Given the description of an element on the screen output the (x, y) to click on. 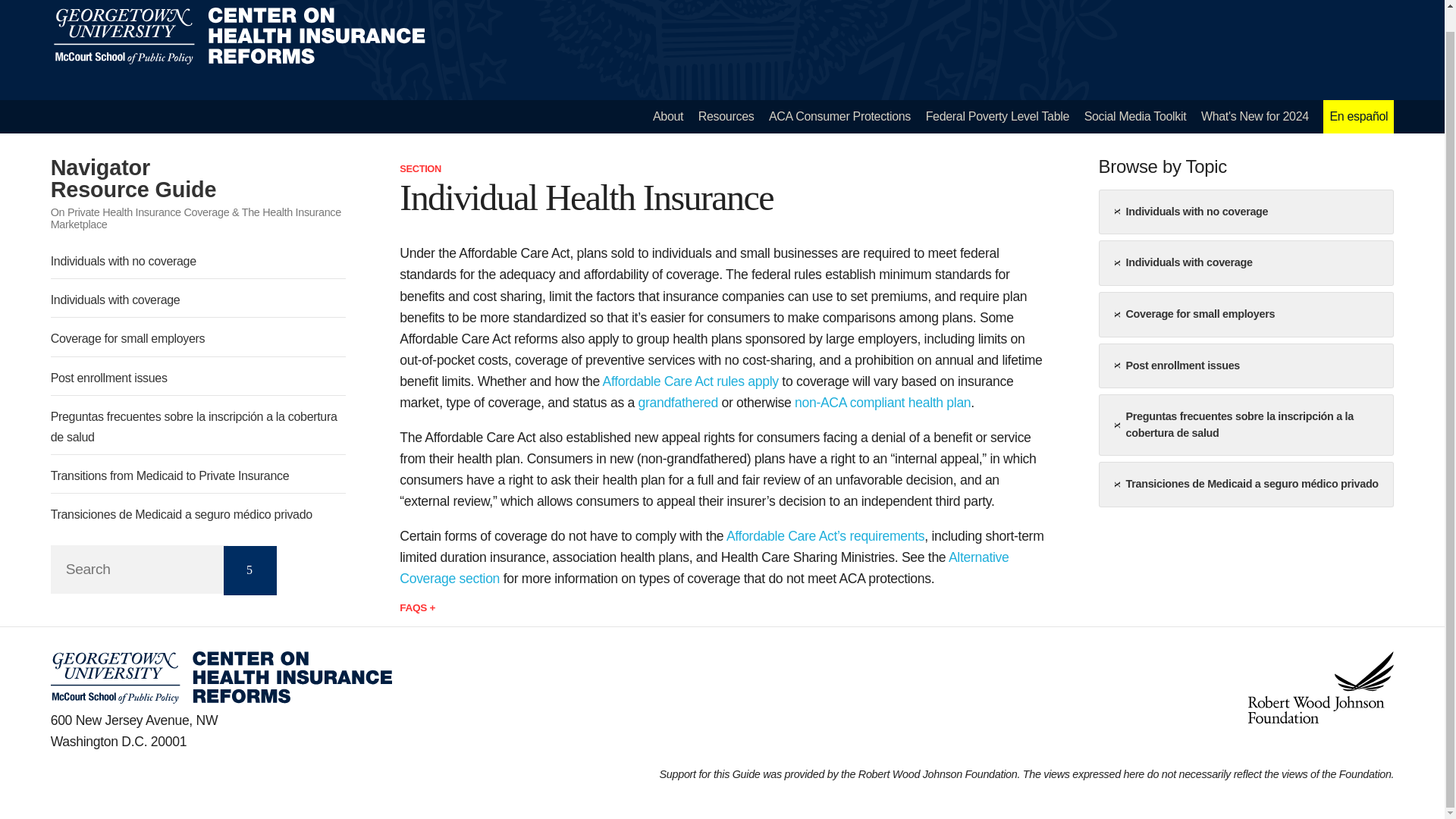
Individuals with no coverage (123, 260)
Transitions from Medicaid to Private Insurance (169, 475)
Post enrollment issues (108, 377)
ACA Consumer Protections (839, 116)
Alternative Coverage section (133, 178)
Federal Poverty Level Table (703, 567)
Individuals with coverage (997, 116)
Social Media Toolkit (115, 299)
non-ACA compliant health plan (1135, 116)
What's New for 2024 (882, 402)
grandfathered (1254, 116)
About (677, 402)
Affordable Care Act rules apply (667, 116)
Resources (689, 381)
